Given the description of an element on the screen output the (x, y) to click on. 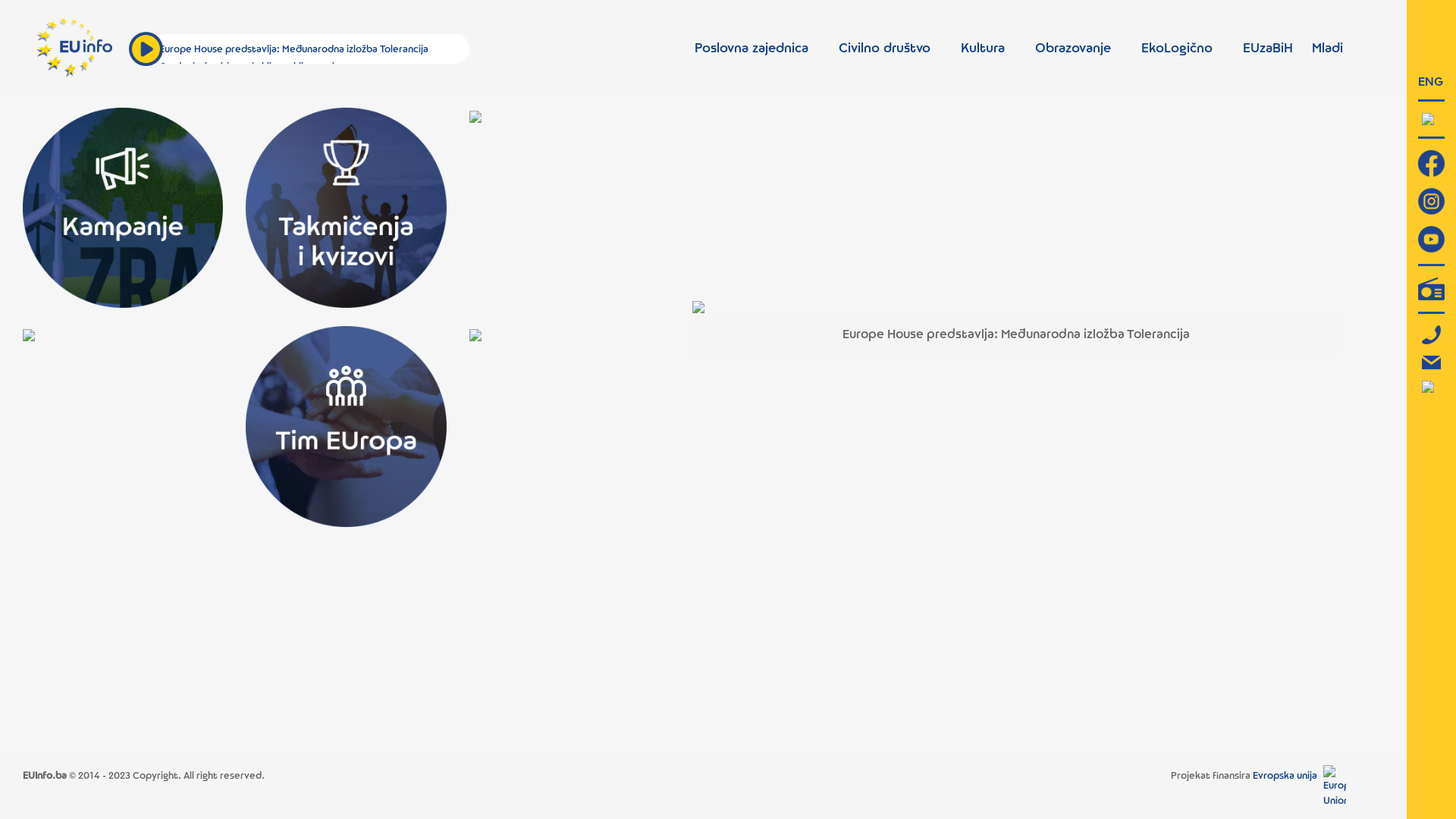
Gradovi u borbi protiv klimatskih promjena Element type: text (255, 65)
Obrazovanje Element type: text (1072, 47)
Evropska unija Element type: text (1284, 774)
Kultura Element type: text (982, 47)
Mladi Element type: text (1327, 47)
EUzaBiH Element type: text (1267, 47)
ENG Element type: text (1430, 80)
EUInfo.ba Element type: text (44, 774)
Poslovna zajednica Element type: text (751, 47)
